Given the description of an element on the screen output the (x, y) to click on. 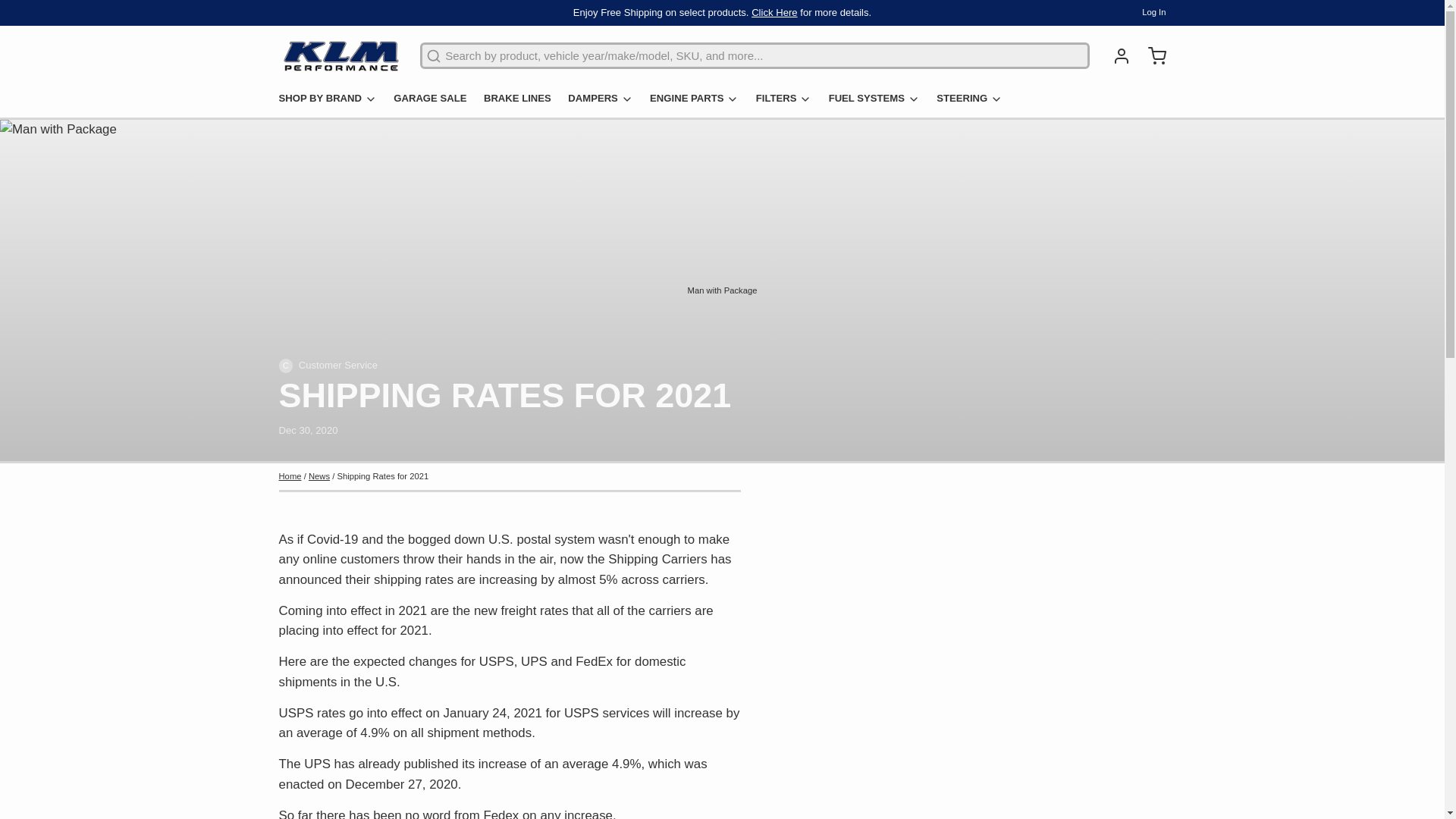
KLM Performance (341, 55)
Home (290, 475)
Shipping Policy (773, 11)
Click Here (773, 11)
GARAGE SALE (435, 101)
Cart (1150, 55)
BRAKE LINES (522, 101)
Log In (1153, 12)
 Log In (1115, 55)
SHOP BY BRAND (333, 101)
